Given the description of an element on the screen output the (x, y) to click on. 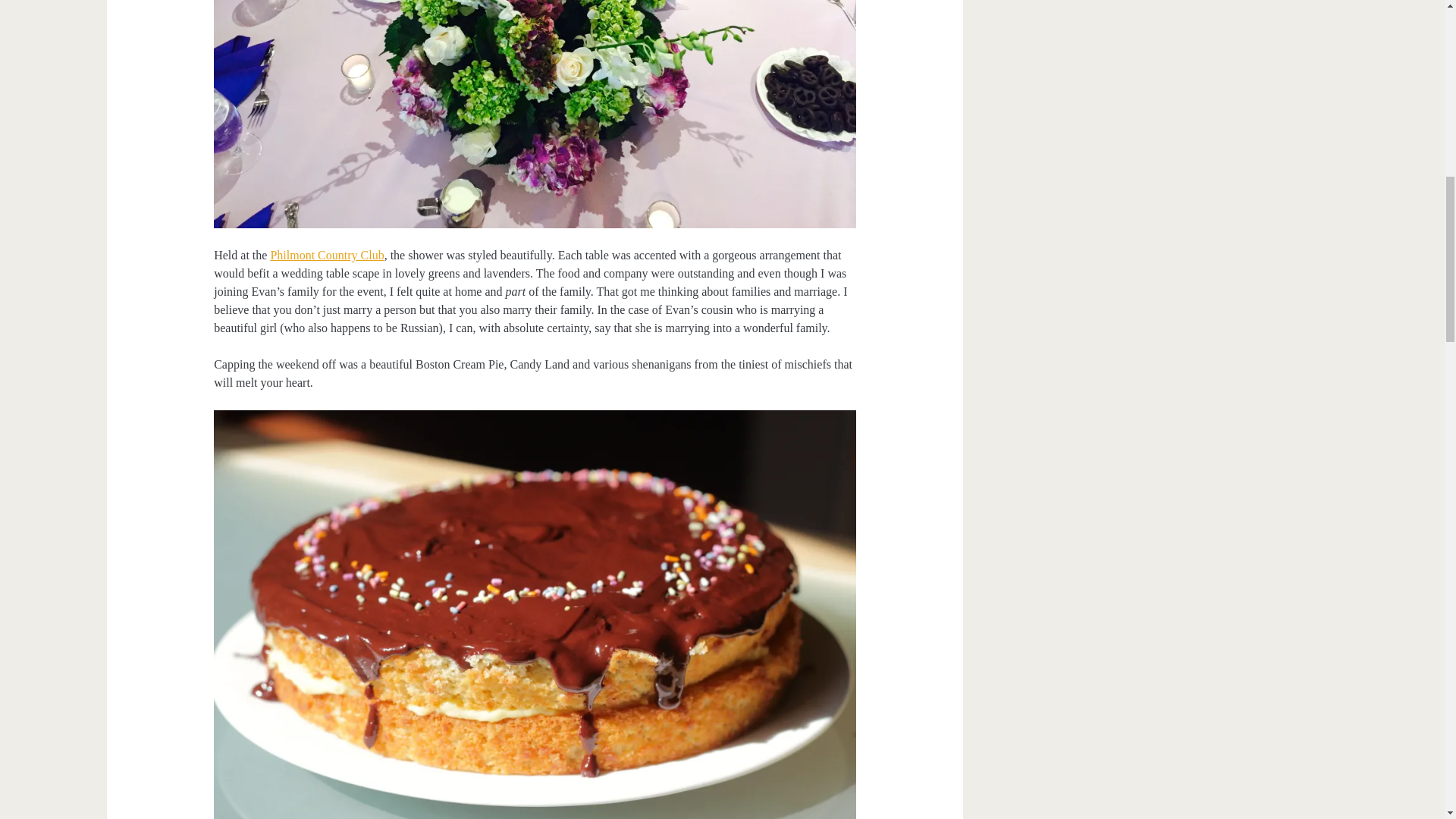
Philmont Country Club (326, 254)
